Given the description of an element on the screen output the (x, y) to click on. 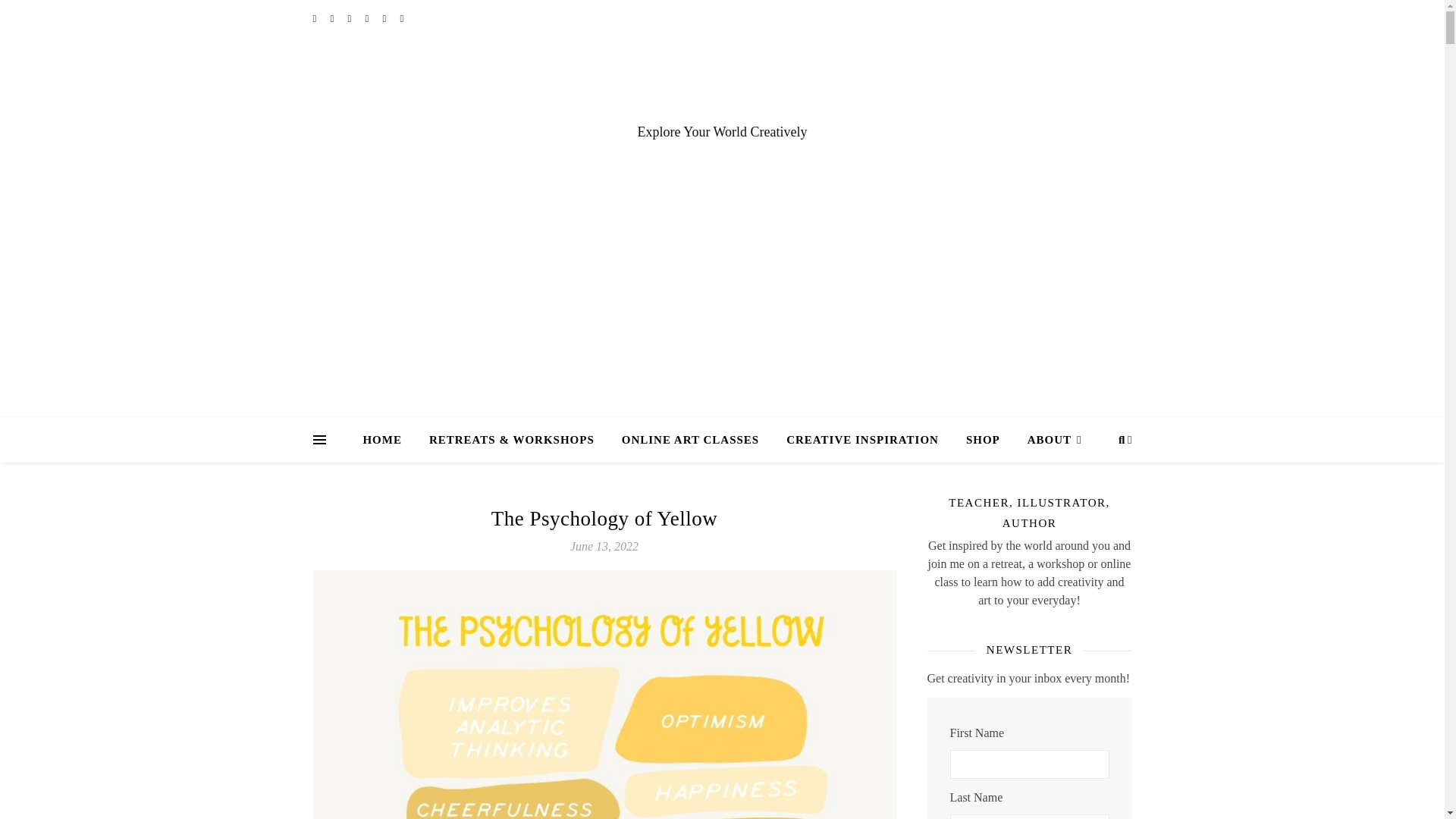
SHOP (982, 439)
Creative Art Retreats and Workshops (511, 439)
ABOUT (1047, 439)
CREATIVE INSPIRATION (862, 439)
ONLINE ART CLASSES (690, 439)
HOME (387, 439)
